Given the description of an element on the screen output the (x, y) to click on. 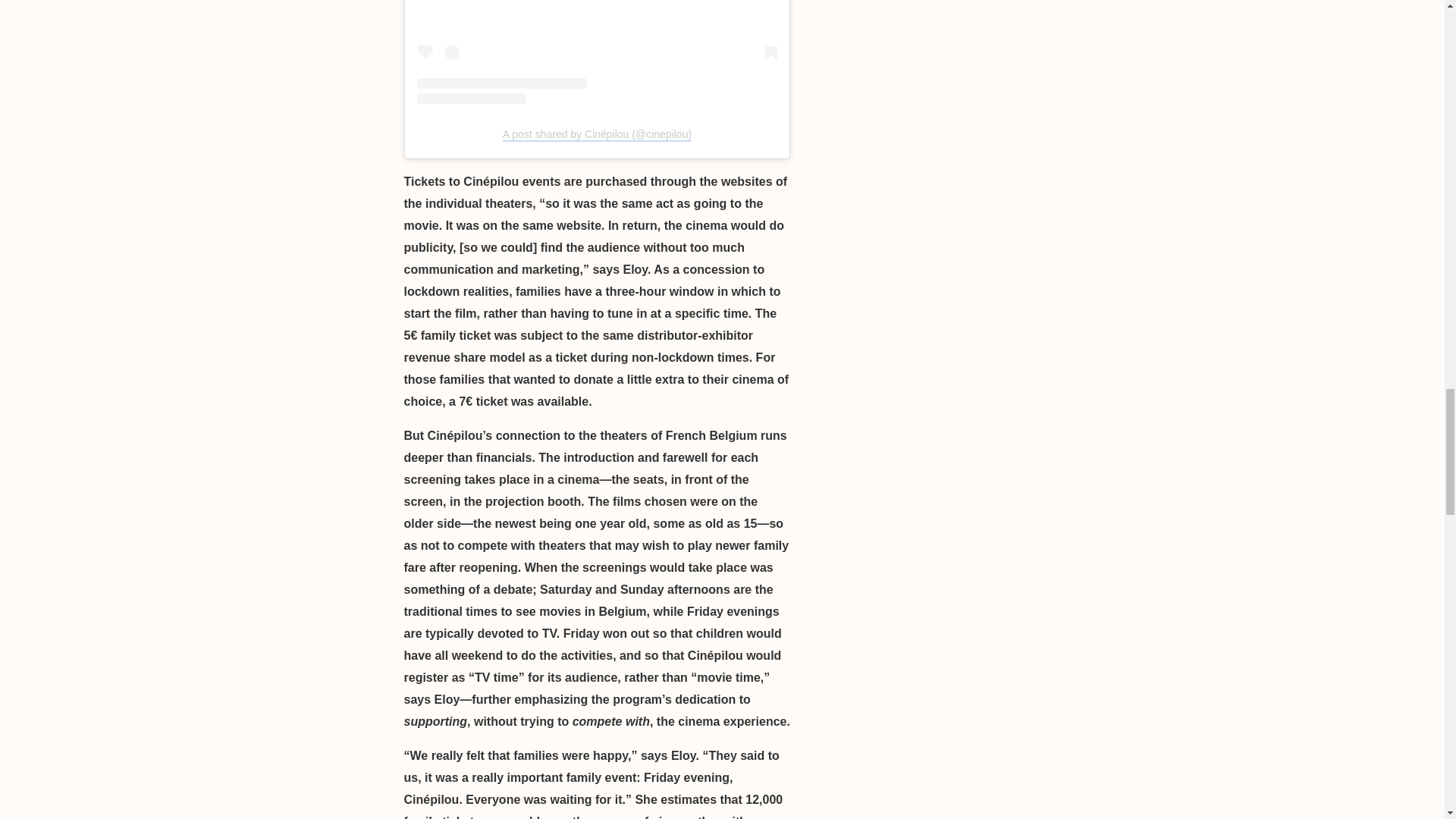
View this post on Instagram (596, 52)
